Given the description of an element on the screen output the (x, y) to click on. 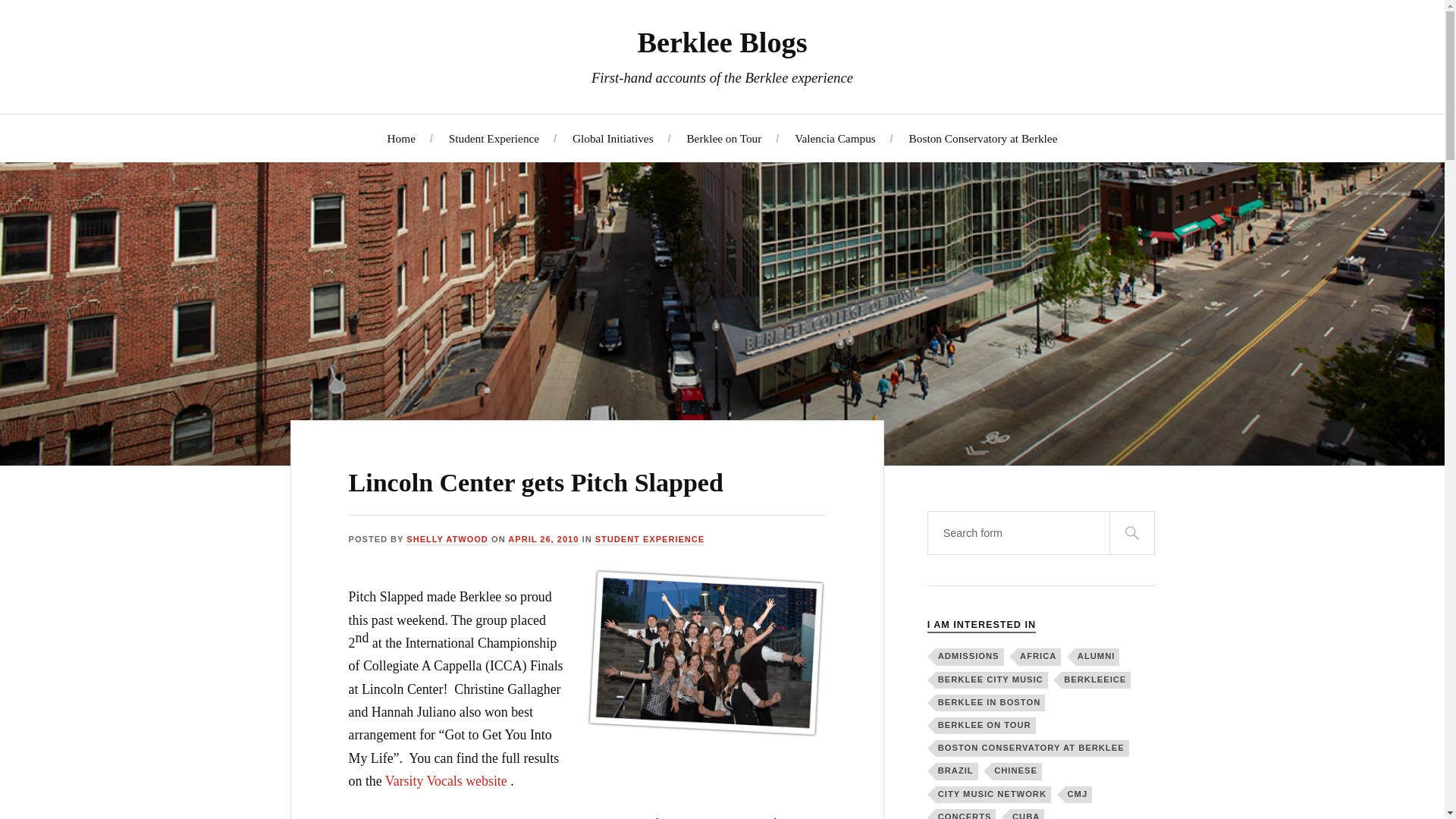
APRIL 26, 2010 (543, 539)
Posts by Shelly Atwood (446, 539)
Varsity Vocals website (448, 780)
Berklee Blogs (721, 42)
Lincoln Center gets Pitch Slapped (536, 482)
Global Initiatives (612, 137)
Boston Conservatory at Berklee (983, 137)
Valencia Campus (835, 137)
Lincoln Center gets Pitch Slapped (536, 482)
Berklee on Tour (723, 137)
